Given the description of an element on the screen output the (x, y) to click on. 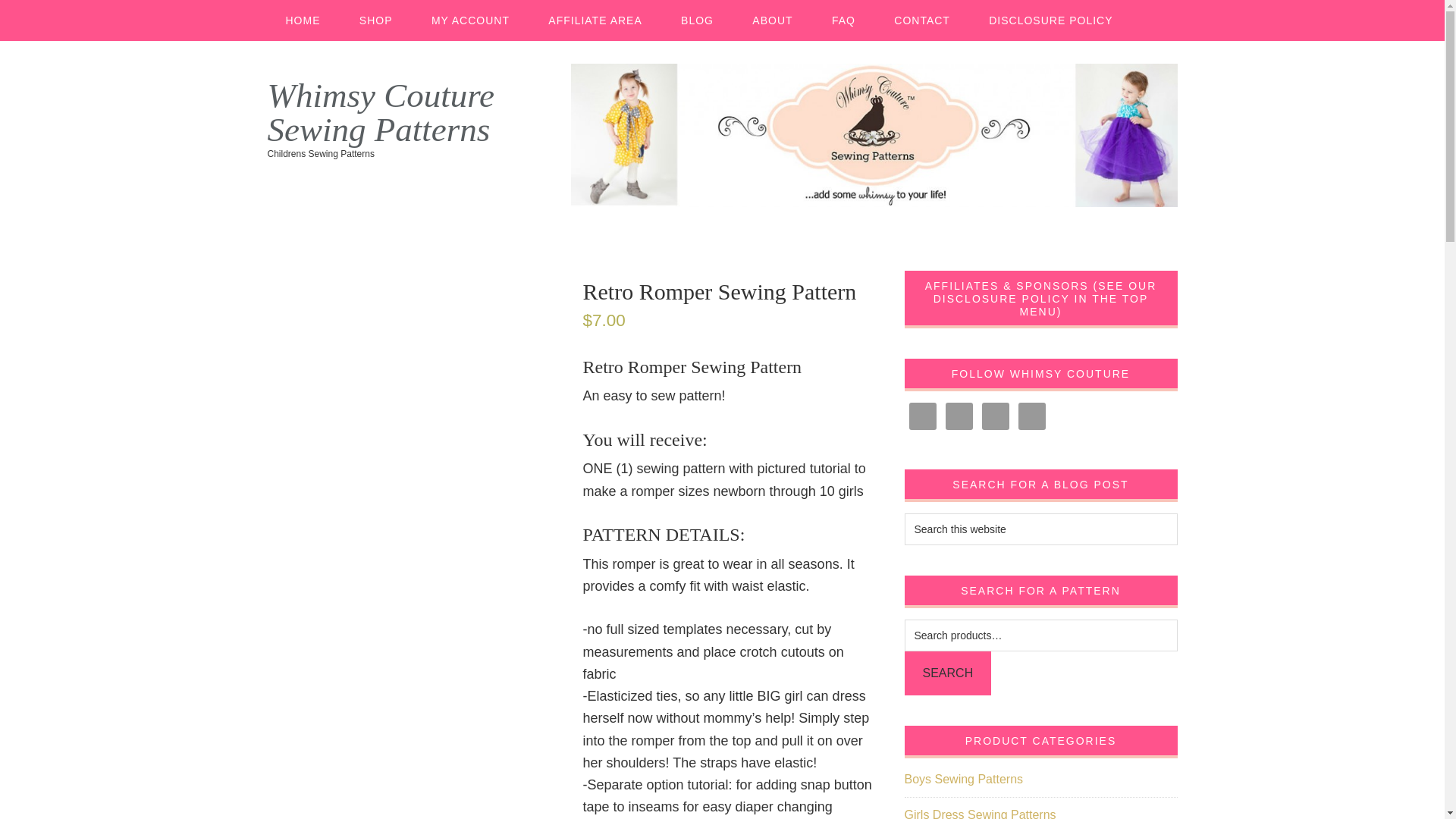
HOME (301, 20)
SHOP (375, 20)
